Given the description of an element on the screen output the (x, y) to click on. 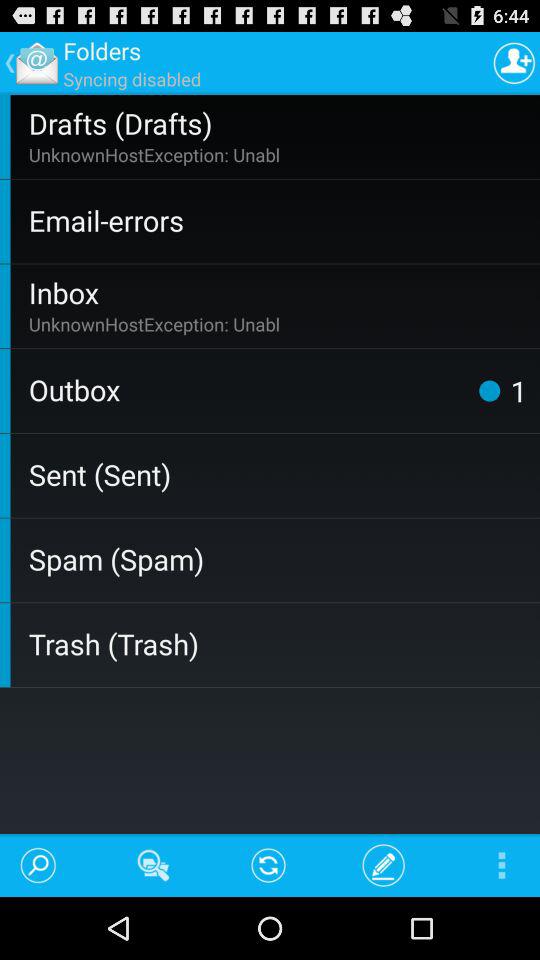
turn on item above the unknownhostexception: unabl app (280, 292)
